Given the description of an element on the screen output the (x, y) to click on. 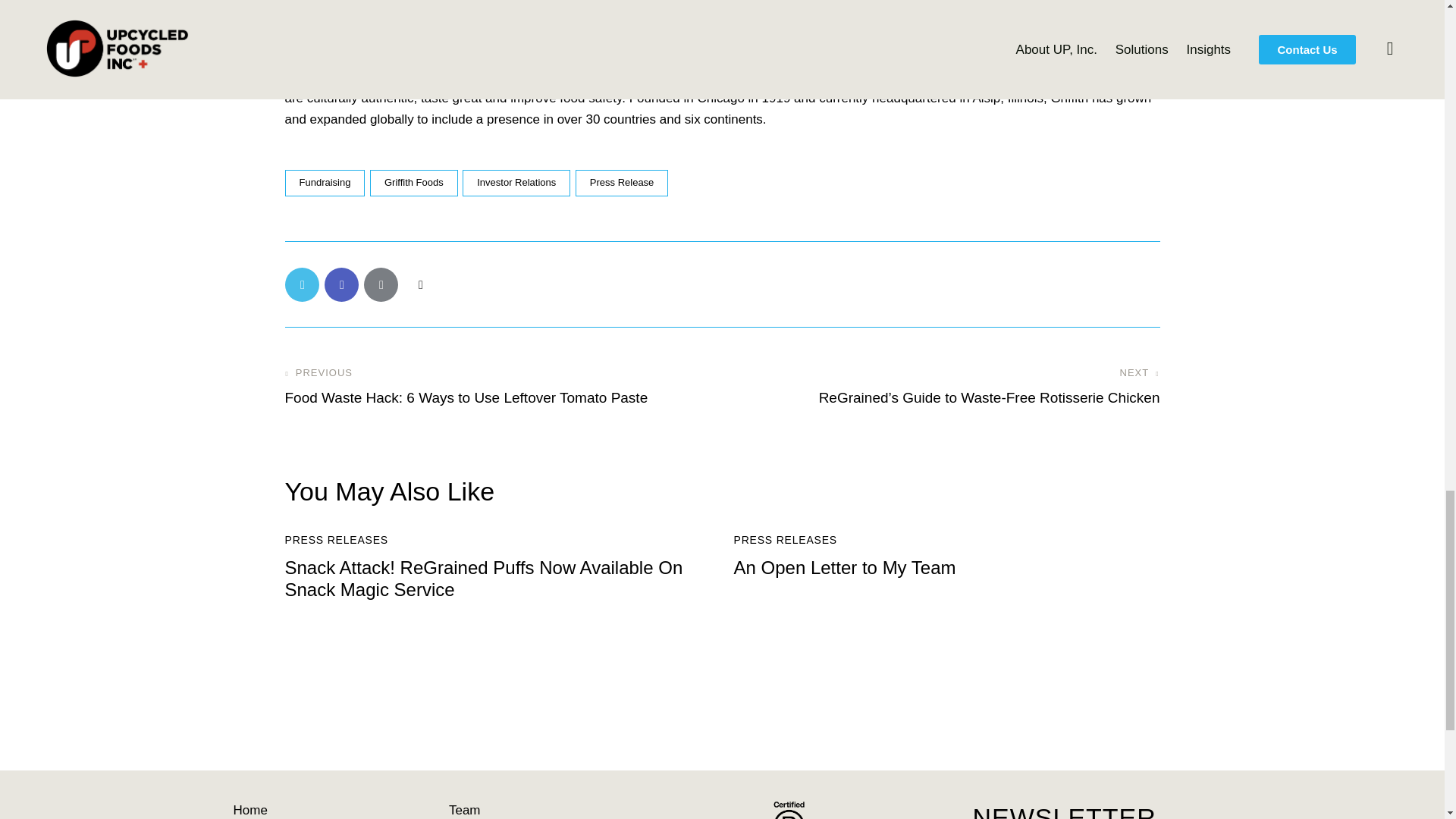
2018-Corp-wTag-Black-L (826, 809)
Griffith Foods (413, 182)
Fundraising (325, 182)
Copy URL to clipboard (420, 284)
Investor Relations (516, 182)
Press Release (621, 182)
